Given the description of an element on the screen output the (x, y) to click on. 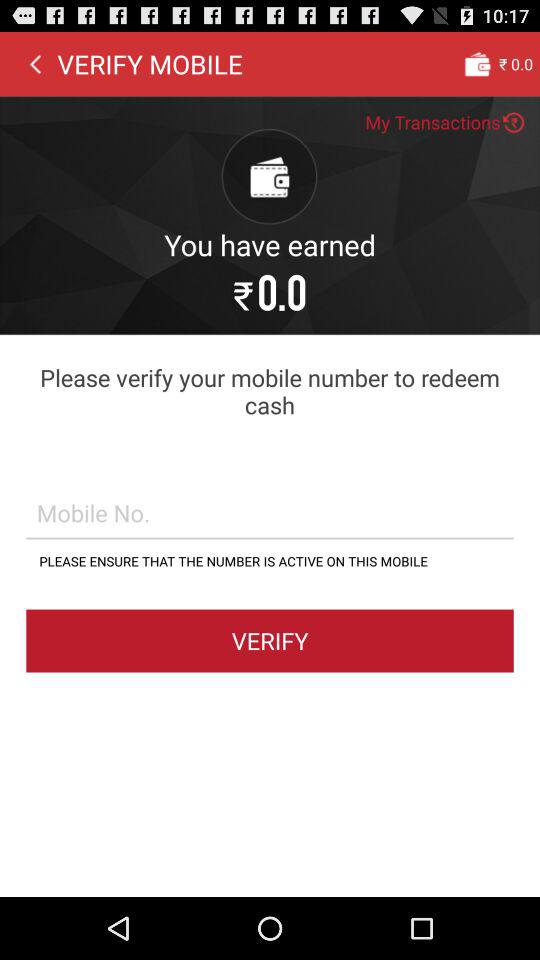
open the icon to the left of verify mobile icon (35, 63)
